Given the description of an element on the screen output the (x, y) to click on. 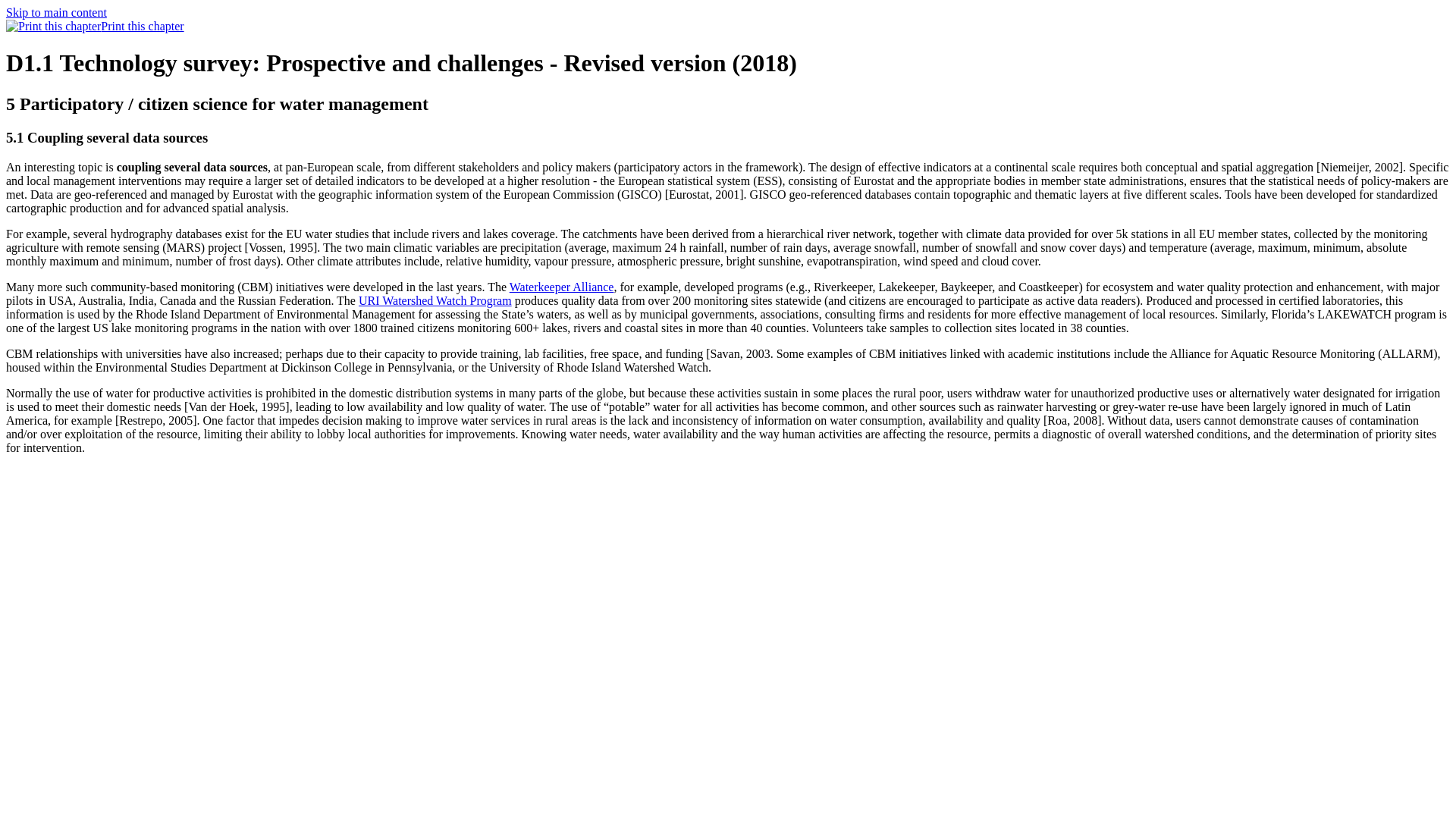
URI Watershed Watch Program (435, 300)
Skip to main content (55, 11)
Print this chapter (52, 26)
Print this chapter (94, 25)
Waterkeeper Alliance (561, 286)
